Given the description of an element on the screen output the (x, y) to click on. 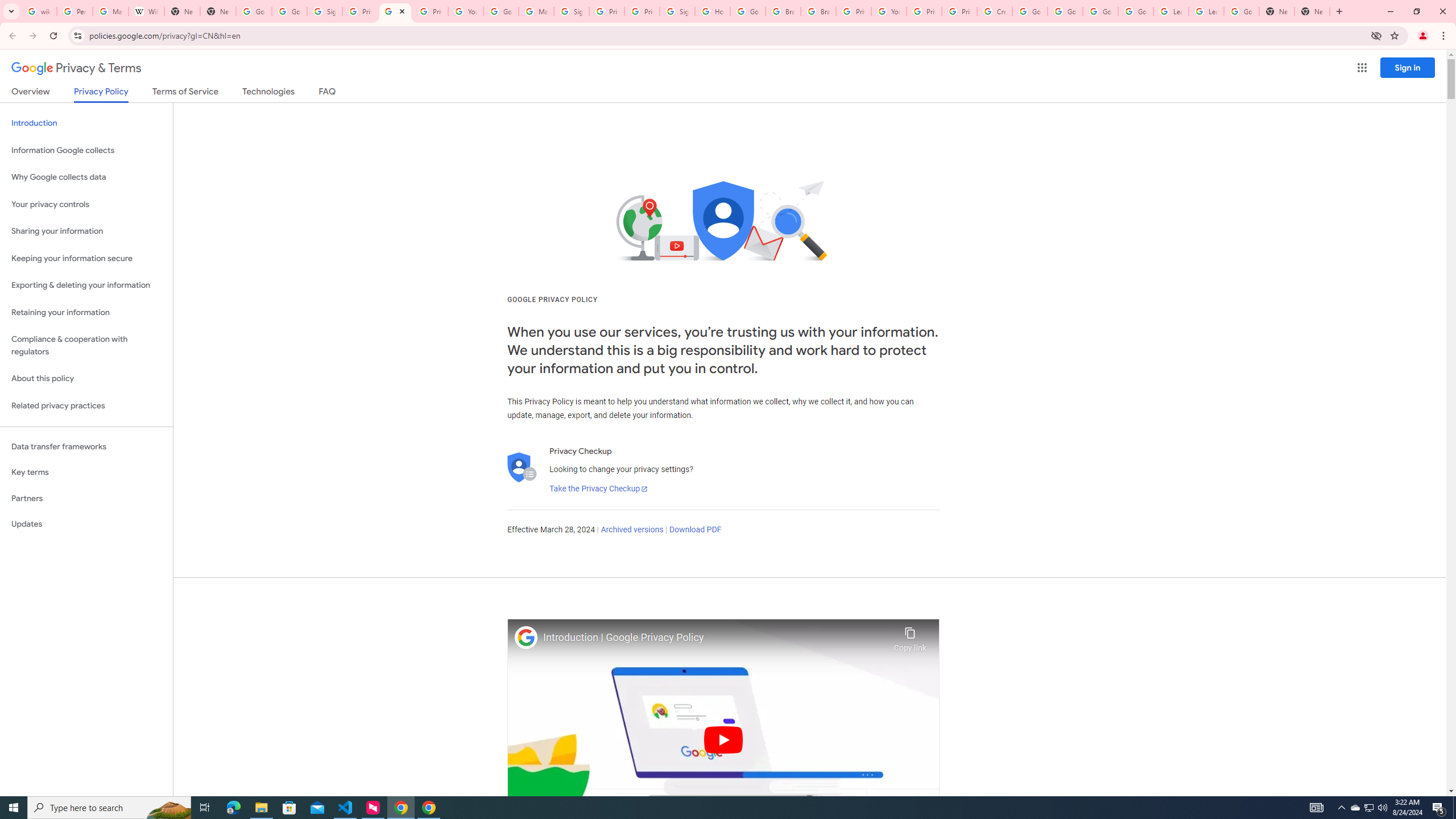
Related privacy practices (86, 405)
Sign in - Google Accounts (324, 11)
Photo image of Google (526, 636)
Introduction | Google Privacy Policy (715, 637)
